Given the description of an element on the screen output the (x, y) to click on. 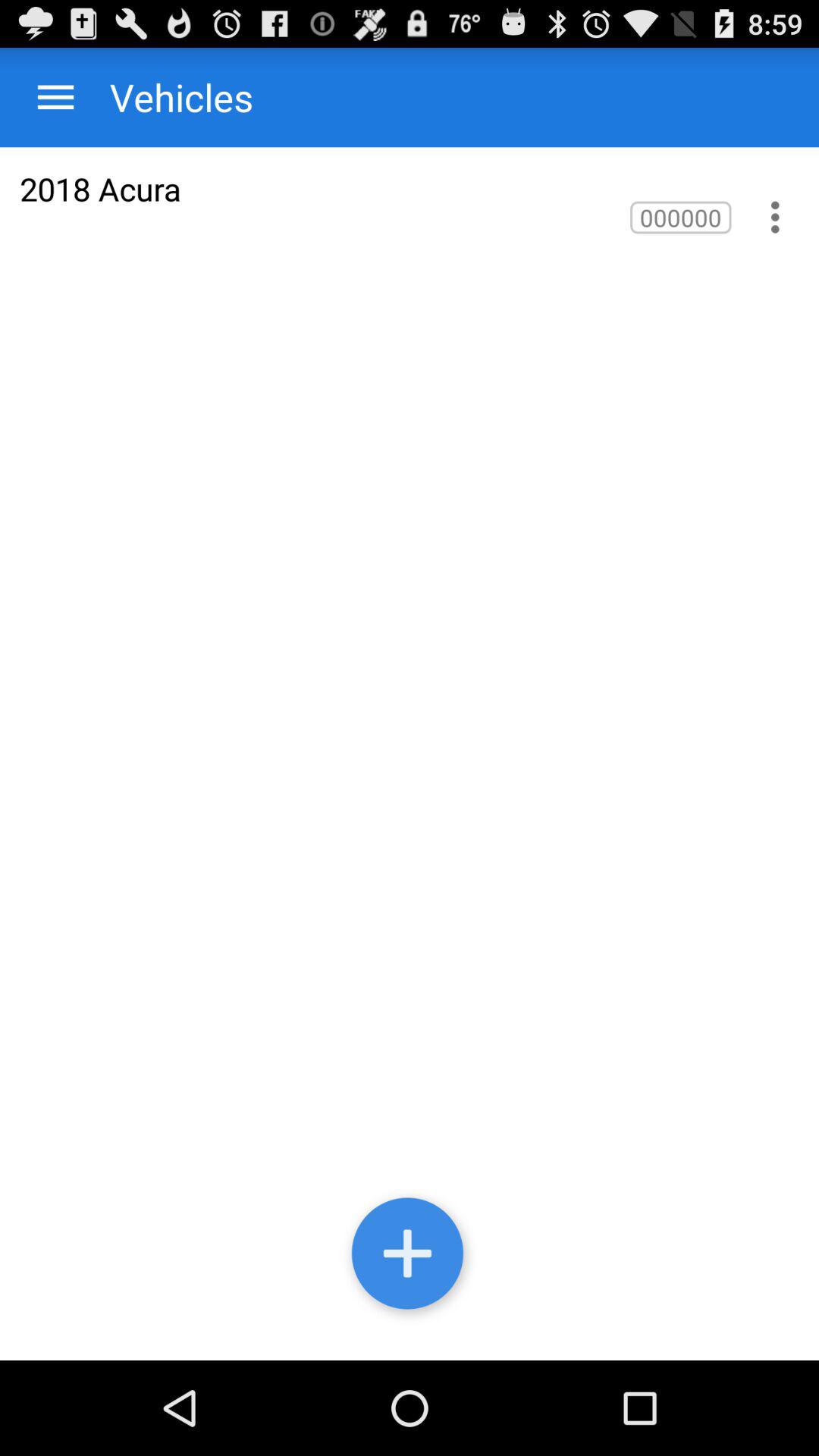
tap app above the 2018 acura app (166, 96)
